Given the description of an element on the screen output the (x, y) to click on. 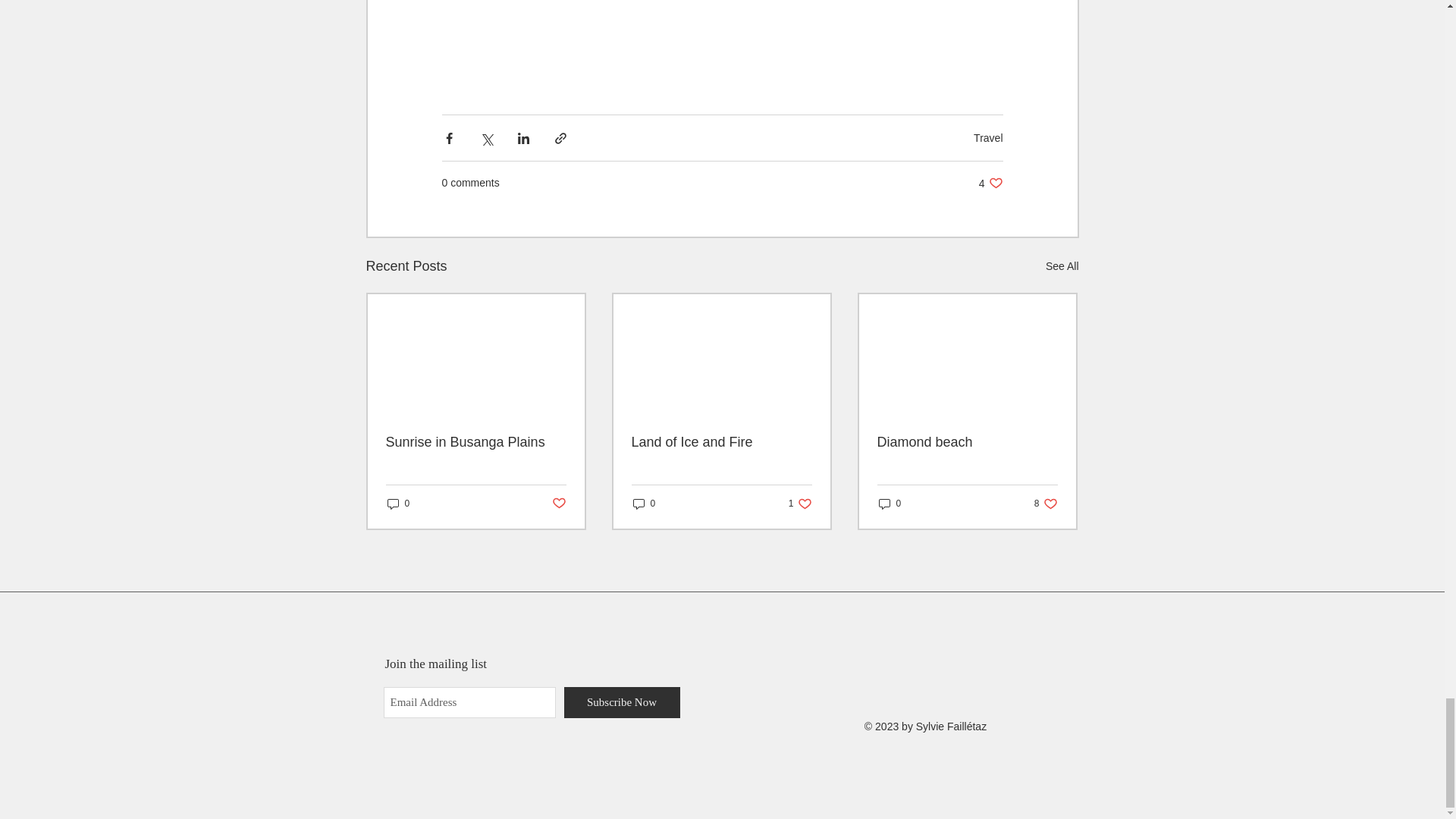
Post not marked as liked (558, 503)
Land of Ice and Fire (720, 442)
0 (889, 503)
Subscribe Now (800, 503)
See All (621, 702)
Diamond beach (1061, 266)
0 (966, 442)
Travel (643, 503)
Sunrise in Busanga Plains (988, 137)
0 (475, 442)
